Given the description of an element on the screen output the (x, y) to click on. 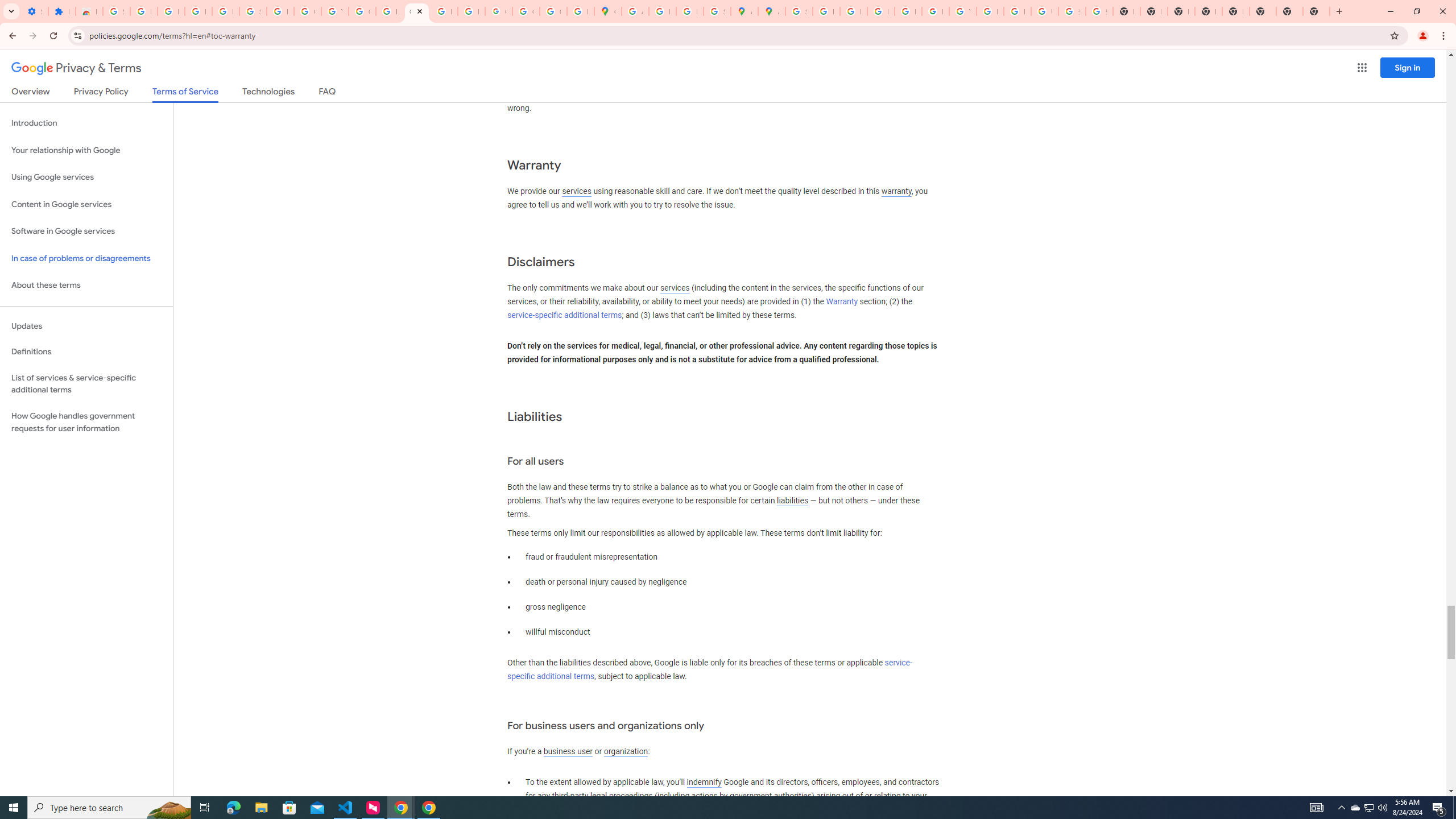
Safety in Our Products - Google Safety Center (716, 11)
indemnify (703, 782)
Sign in - Google Accounts (116, 11)
Privacy & Terms (76, 68)
Your relationship with Google (86, 150)
Definitions (86, 352)
YouTube (962, 11)
New Tab (1316, 11)
Warranty (841, 301)
organization (624, 751)
